Given the description of an element on the screen output the (x, y) to click on. 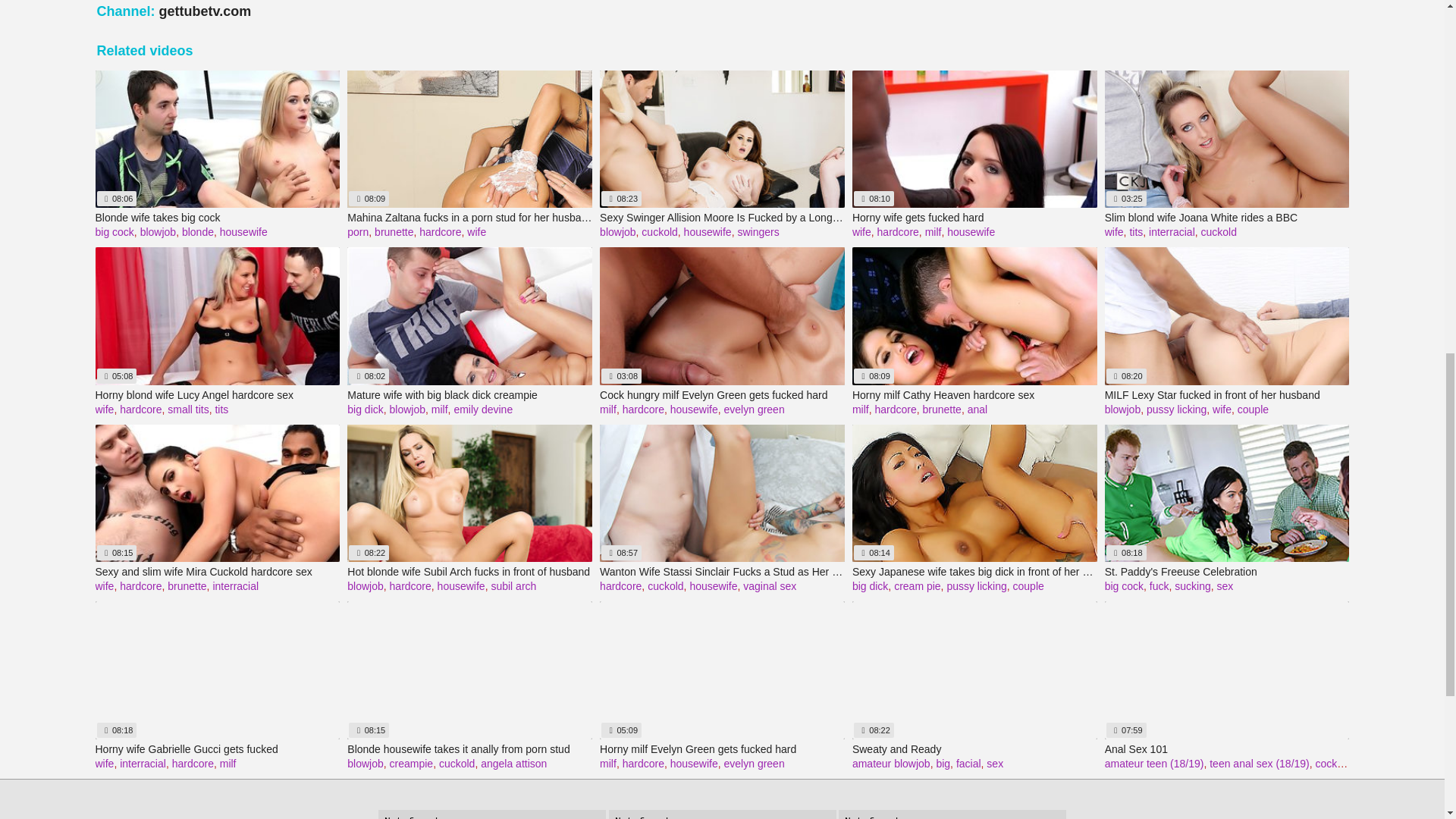
blowjob (616, 232)
housewife (708, 232)
gettubetv.com (204, 10)
housewife (243, 232)
cuckold (659, 232)
porn (357, 232)
blonde (198, 232)
hardcore (440, 232)
Mahina Zaltana fucks in a porn stud for her husband (469, 217)
wife (476, 232)
big cock (114, 232)
blowjob (157, 232)
wife (860, 232)
Horny wife gets fucked hard (974, 217)
Blonde wife takes big cock (218, 217)
